Given the description of an element on the screen output the (x, y) to click on. 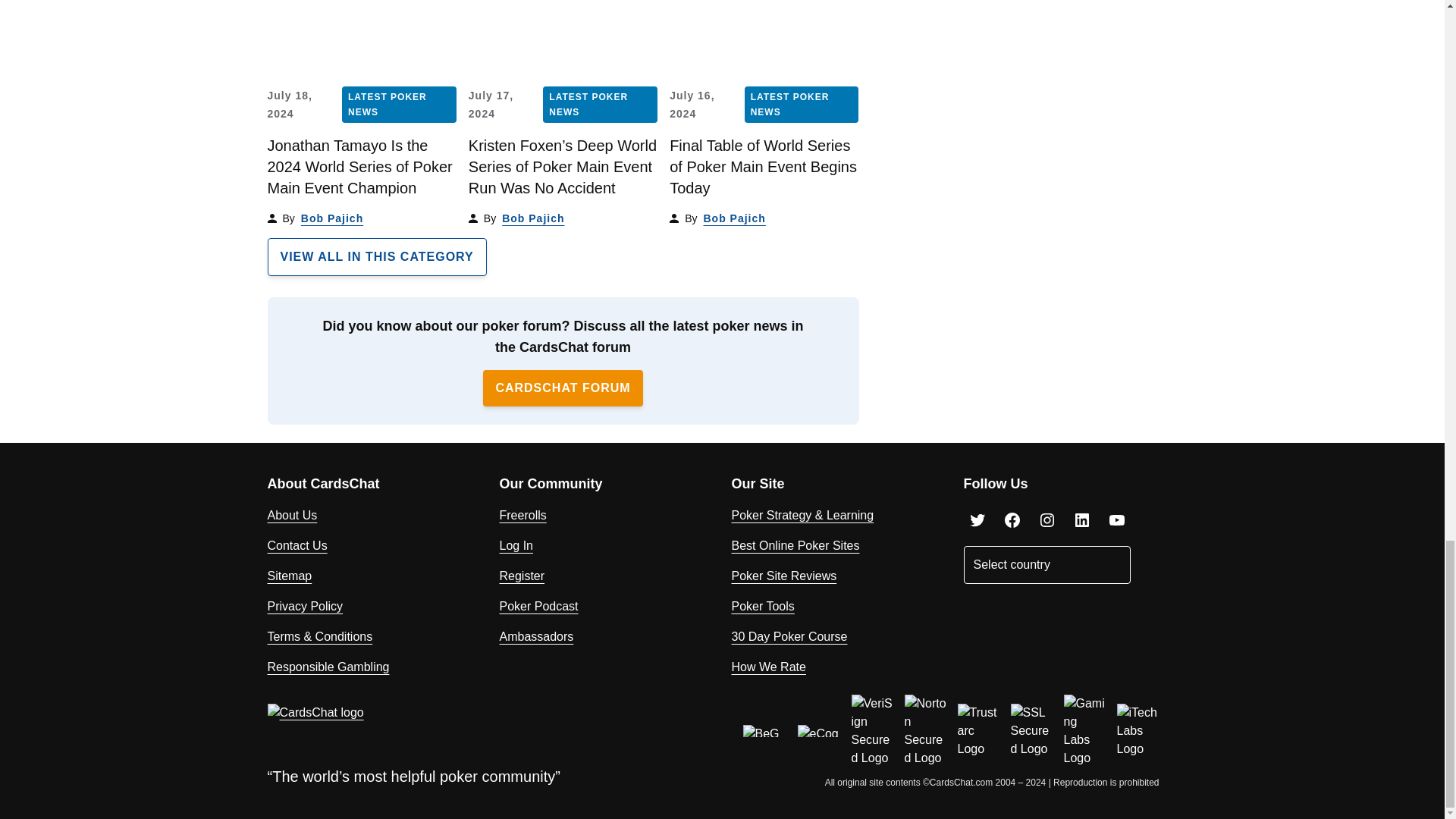
VeriSign Secured Logo (871, 730)
SSL Secured Logo (1031, 730)
BeGambleAware Logo (764, 730)
iTech Labs Logo (1137, 730)
eCogra Logo (818, 730)
Gaming Labs Logo (1083, 730)
Trustarc Logo (977, 730)
Norton Secured Logo (925, 730)
